Given the description of an element on the screen output the (x, y) to click on. 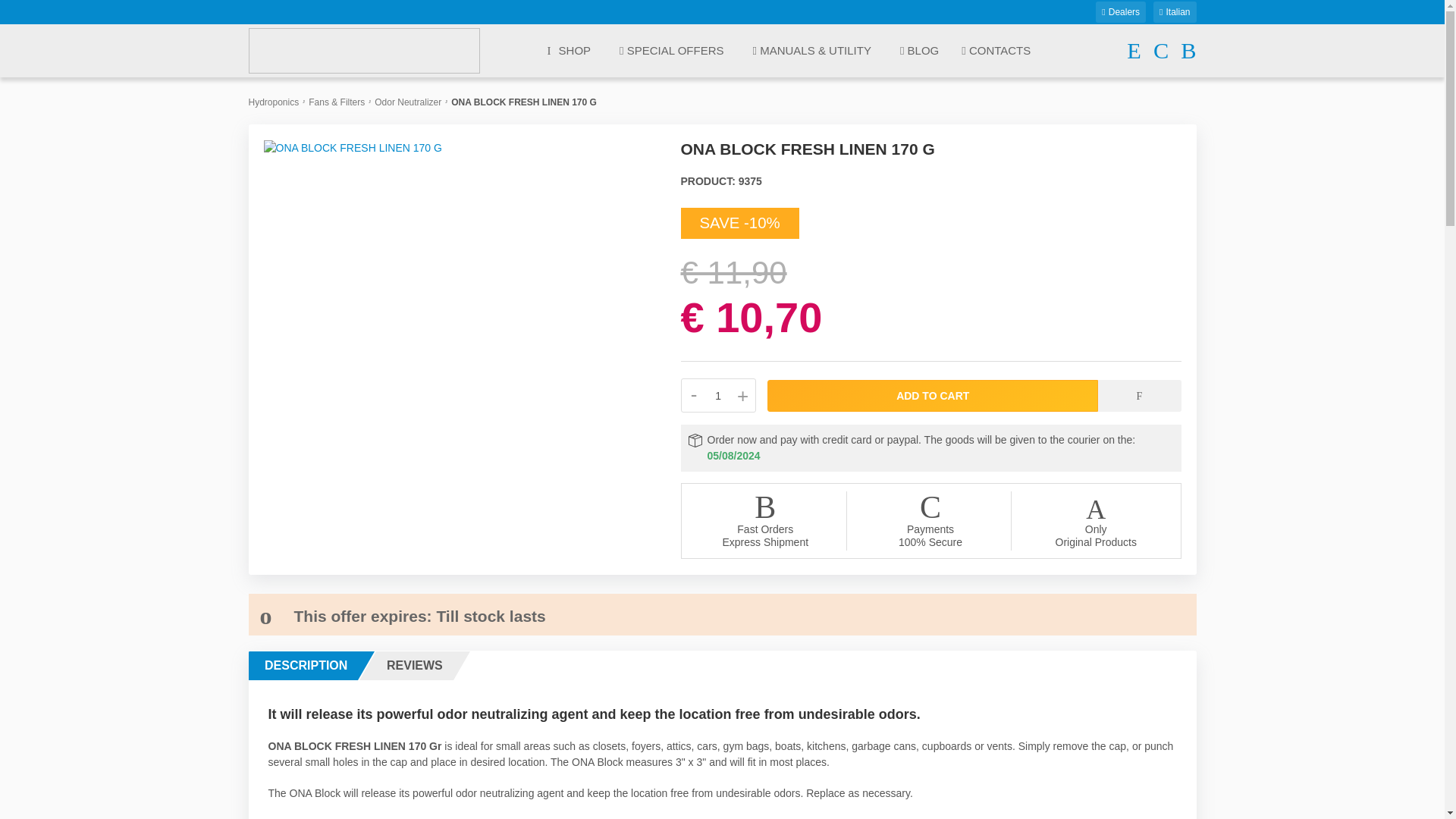
SPECIAL OFFERS (671, 51)
Italian (1174, 11)
Odor Neutralizer (407, 102)
BLOG (919, 51)
Dealers (1120, 11)
SHOP (568, 50)
Blog (919, 51)
Hydroponics (273, 102)
CONTACTS (995, 51)
1 (718, 395)
ONA BLOCK FRESH LINEN 170 G (352, 146)
Odor Neutralizer (407, 102)
